Given the description of an element on the screen output the (x, y) to click on. 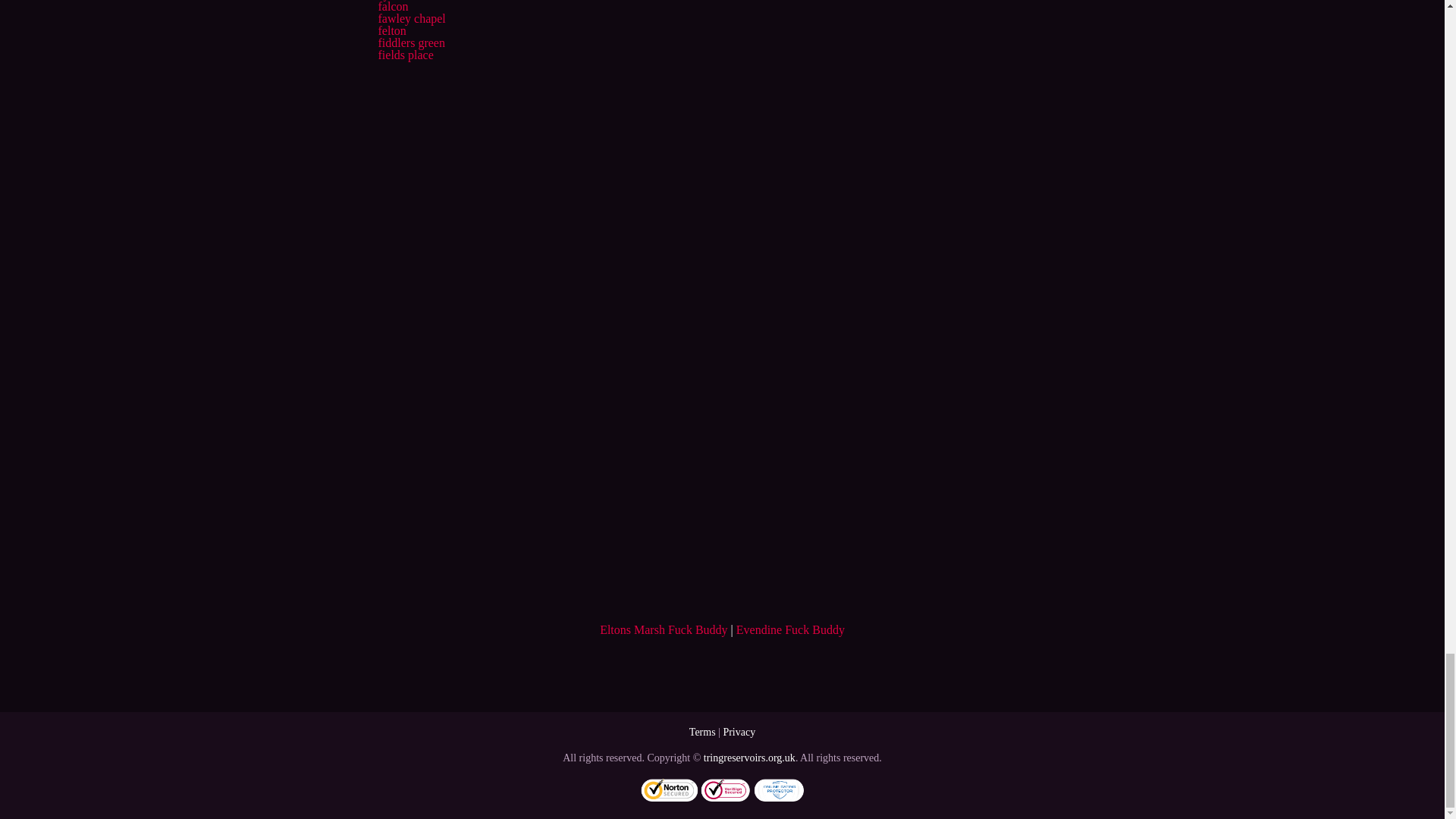
falcon (392, 6)
Terms (702, 731)
fawley chapel (411, 18)
Terms (702, 731)
felton (391, 30)
Evendine Fuck Buddy (790, 629)
fields place (404, 54)
Eltons Marsh Fuck Buddy (662, 629)
fiddlers green (410, 42)
